Given the description of an element on the screen output the (x, y) to click on. 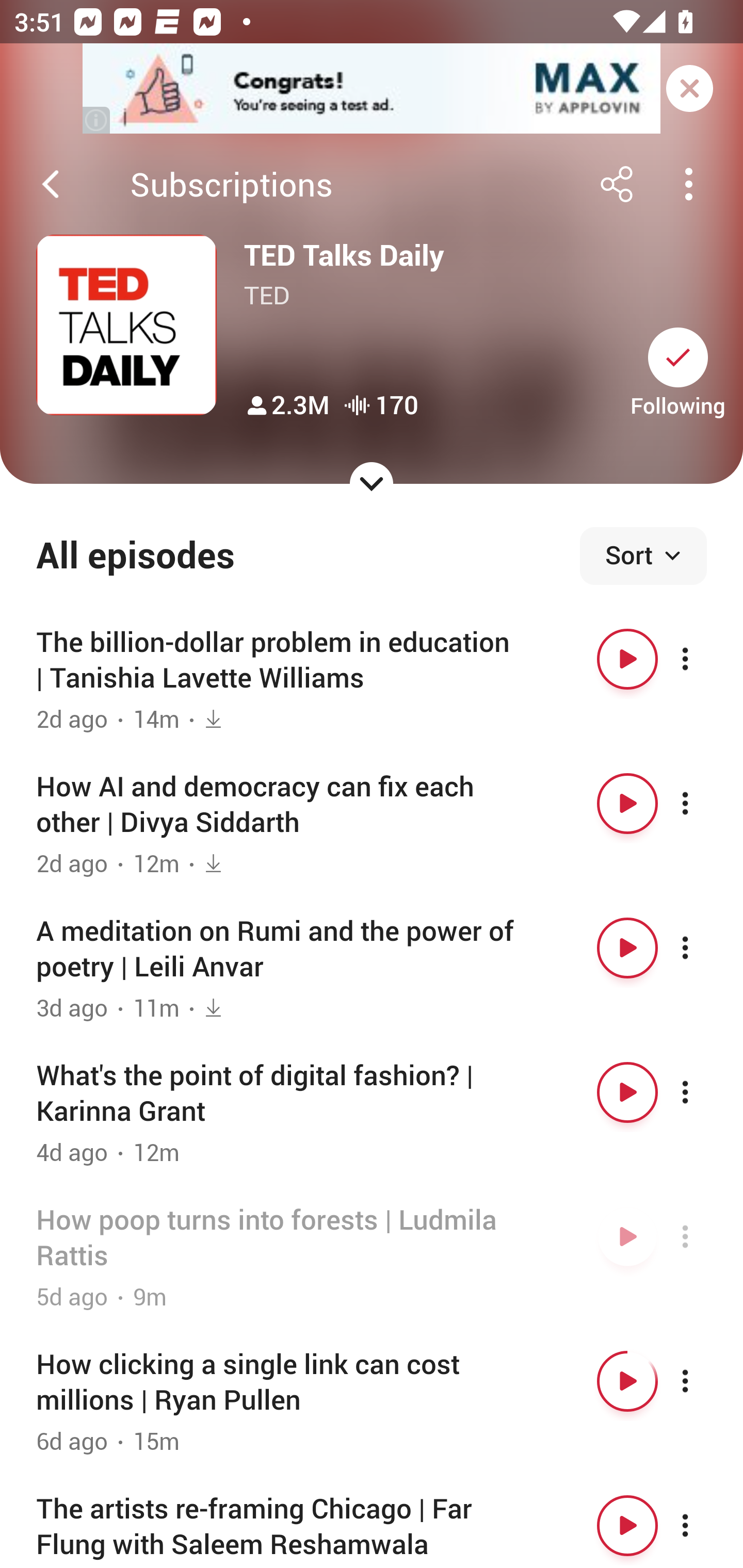
app-monetization (371, 88)
(i) (96, 119)
Back (50, 184)
Unsubscribe button (677, 357)
Sort episodes Sort (643, 555)
Play button (627, 659)
More options (703, 659)
Play button (627, 803)
More options (703, 803)
Play button (627, 947)
More options (703, 947)
Play button (627, 1092)
More options (703, 1092)
Play button (627, 1236)
More options (703, 1236)
Play button (627, 1381)
More options (703, 1381)
Play button (627, 1525)
More options (703, 1525)
